Given the description of an element on the screen output the (x, y) to click on. 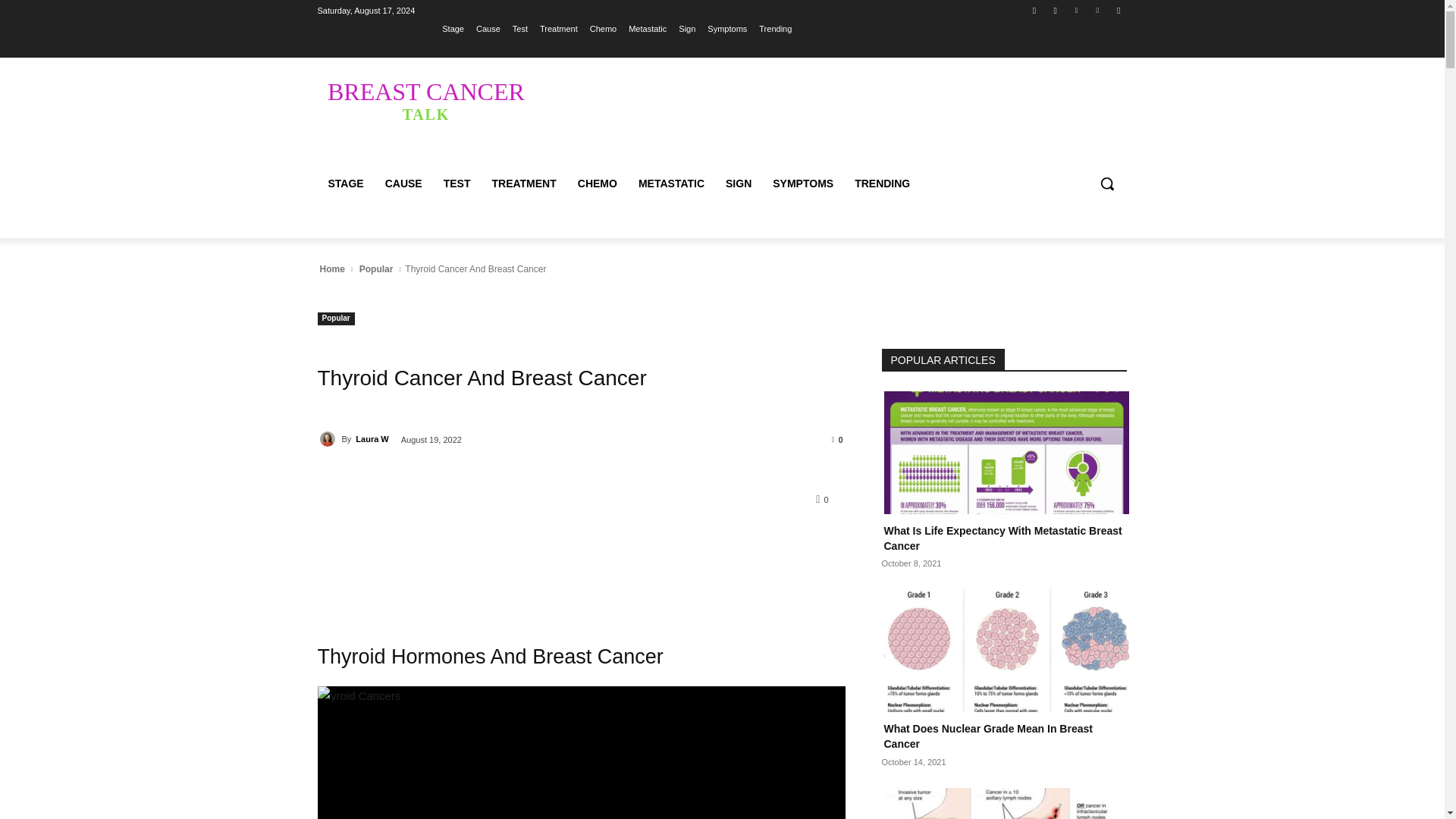
Metastatic (647, 28)
Vimeo (1097, 9)
Cause (488, 28)
Treatment (559, 28)
View all posts in Popular (376, 269)
Trending (775, 28)
Laura W (328, 438)
Twitter (1075, 9)
Symptoms (425, 100)
